Given the description of an element on the screen output the (x, y) to click on. 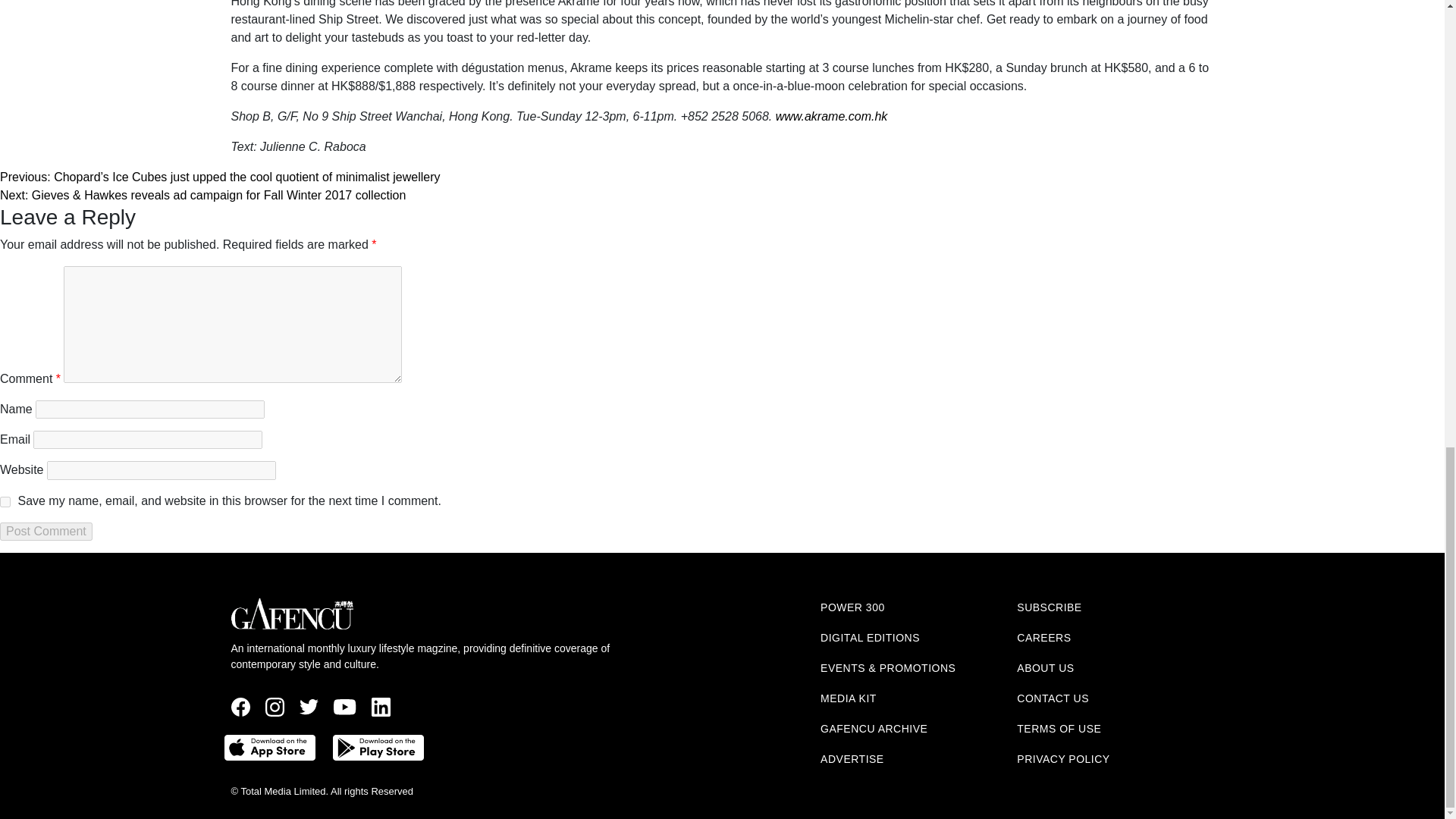
CAREERS (1043, 637)
DIGITAL EDITIONS (870, 637)
POWER 300 (853, 607)
PRIVACY POLICY (1062, 758)
SUBSCRIBE (1048, 607)
ABOUT US (1045, 667)
Post Comment (46, 531)
yes (5, 501)
ADVERTISE (852, 758)
TERMS OF USE (1058, 728)
GAFENCU ARCHIVE (874, 728)
MEDIA KIT (848, 698)
CONTACT US (1052, 698)
